Given the description of an element on the screen output the (x, y) to click on. 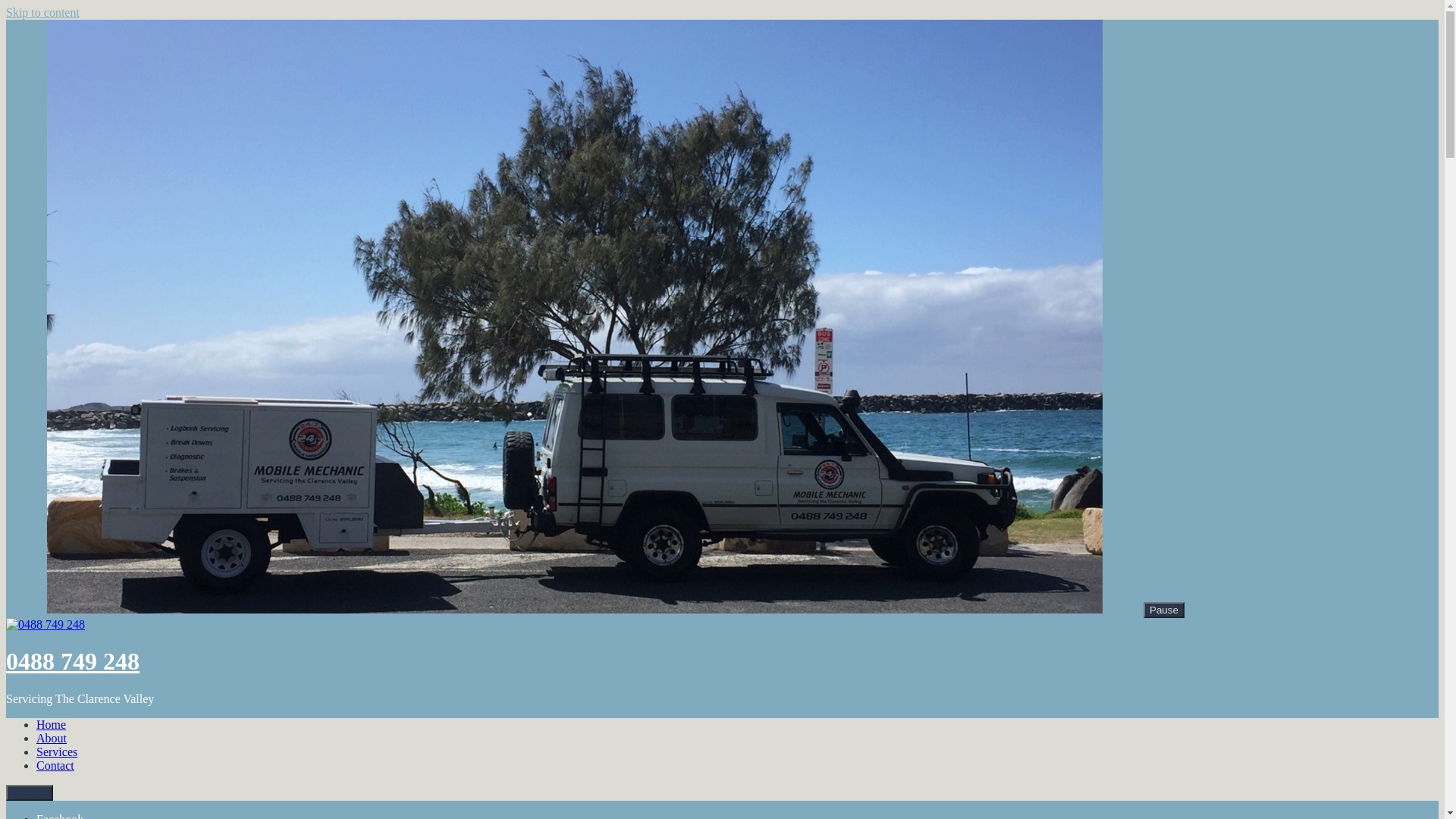
Pause Element type: text (1163, 610)
Services Element type: text (56, 751)
Skip to content Element type: text (42, 12)
Home Element type: text (50, 724)
0488 749 248 Element type: text (72, 660)
Contact Element type: text (55, 765)
About Element type: text (51, 737)
